Given the description of an element on the screen output the (x, y) to click on. 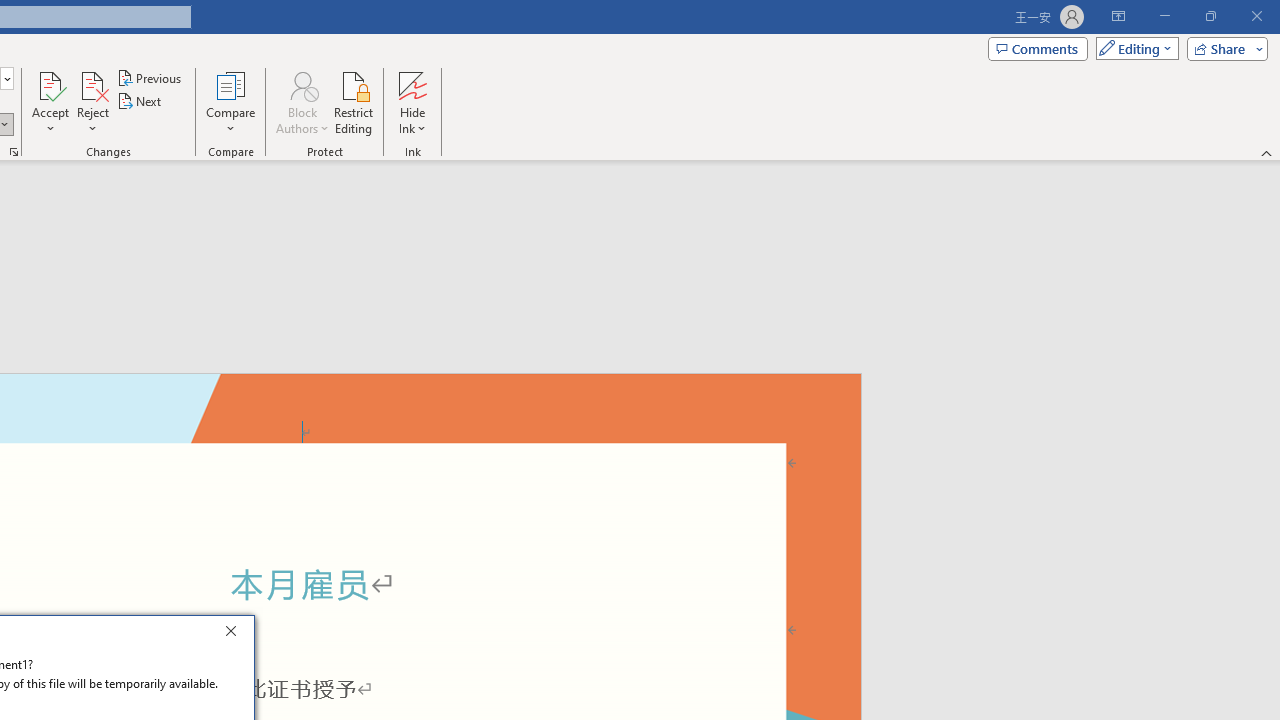
Accept (50, 102)
Comments (1038, 48)
Minimize (1164, 16)
Share (1223, 48)
Previous (150, 78)
Close (236, 633)
Accept and Move to Next (50, 84)
Block Authors (302, 84)
Reject and Move to Next (92, 84)
More Options (412, 121)
Restrict Editing (353, 102)
Ribbon Display Options (1118, 16)
Block Authors (302, 102)
Reject (92, 102)
